Given the description of an element on the screen output the (x, y) to click on. 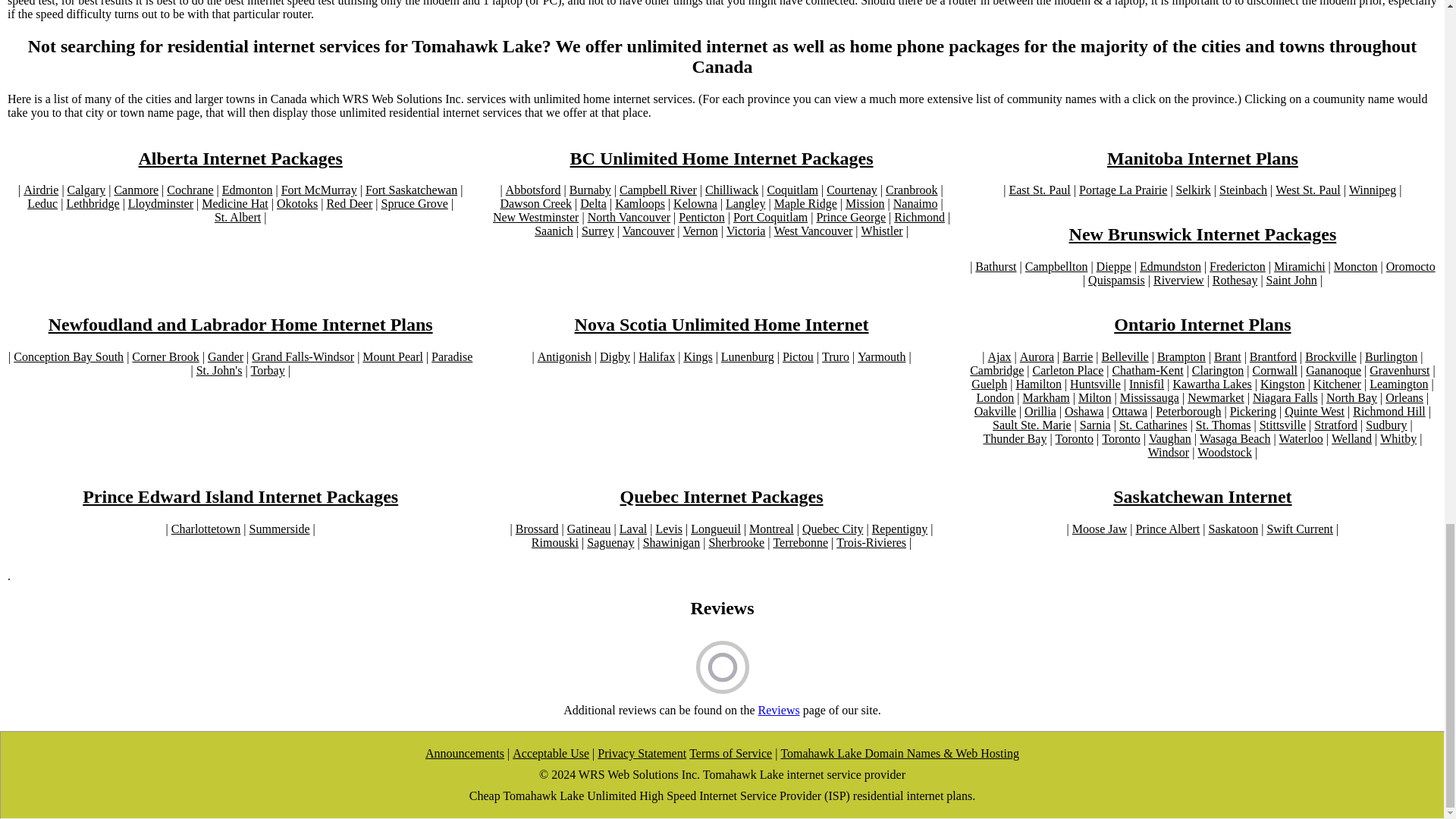
St. Albert (237, 217)
Airdrie (40, 190)
Chilliwack (731, 190)
Edmonton (247, 190)
Coquitlam (792, 190)
Alberta Internet Packages (240, 158)
Lloydminster (160, 203)
Red Deer (349, 203)
Fort McMurray (318, 190)
Burnaby (590, 190)
